Given the description of an element on the screen output the (x, y) to click on. 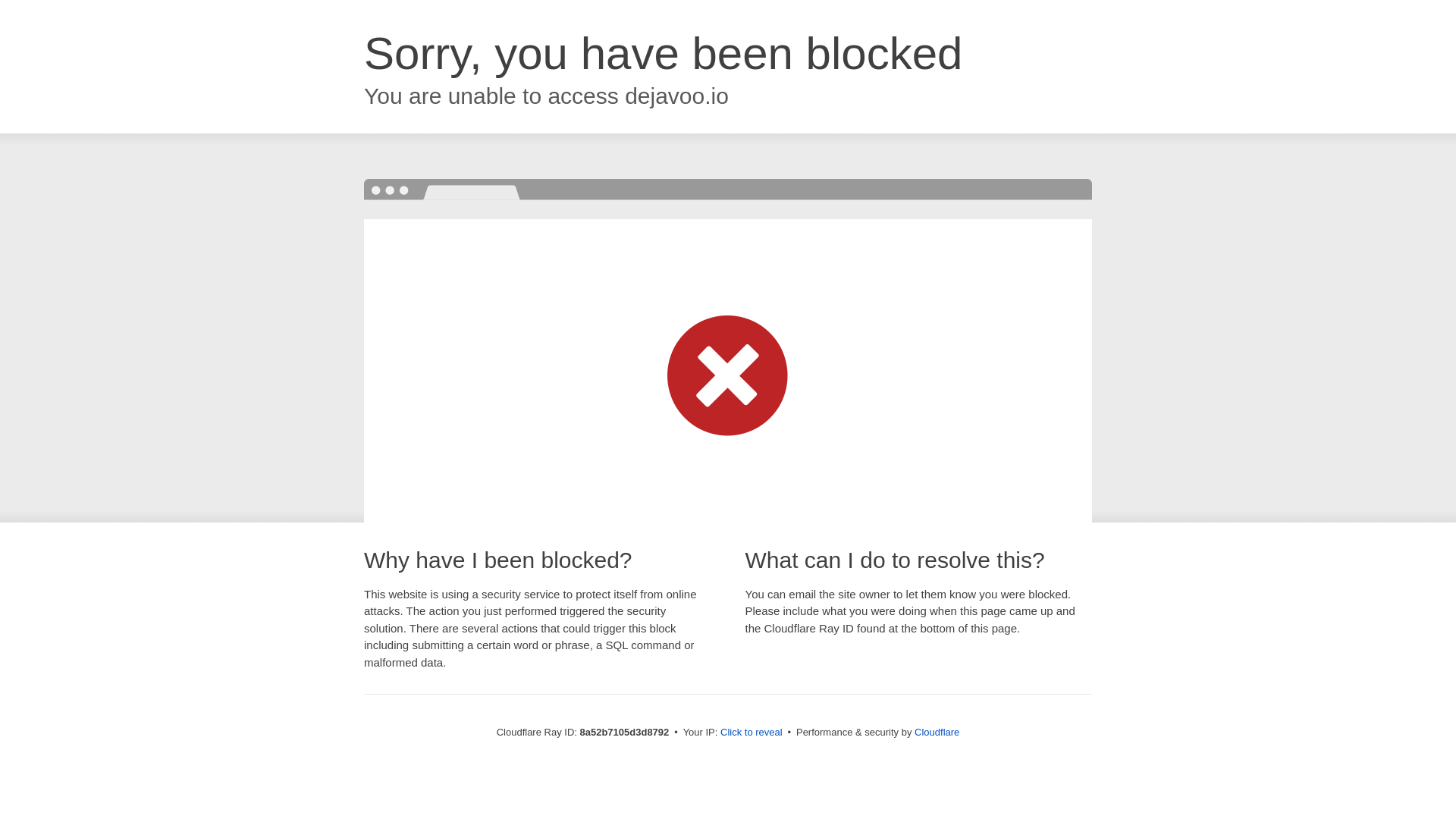
Click to reveal (751, 732)
Cloudflare (936, 731)
